Given the description of an element on the screen output the (x, y) to click on. 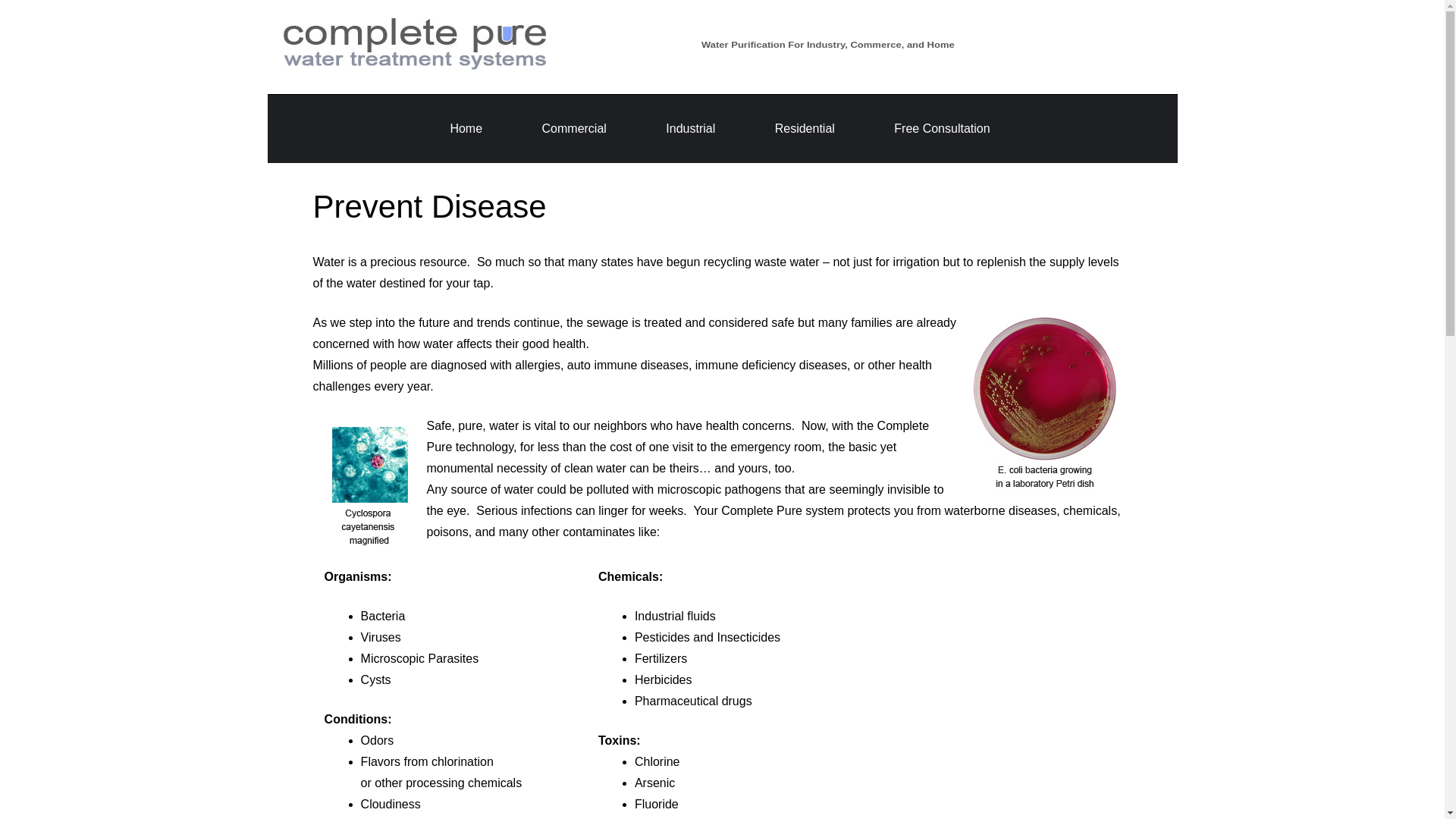
Residential (804, 128)
Industrial (689, 128)
Commercial (574, 128)
Free Consultation (941, 128)
Home (465, 128)
